Given the description of an element on the screen output the (x, y) to click on. 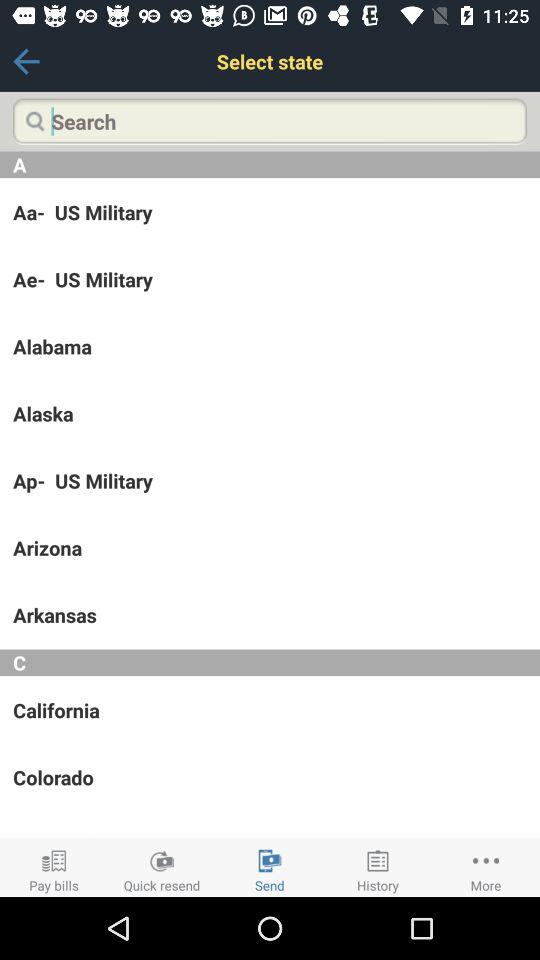
press a item (270, 164)
